Given the description of an element on the screen output the (x, y) to click on. 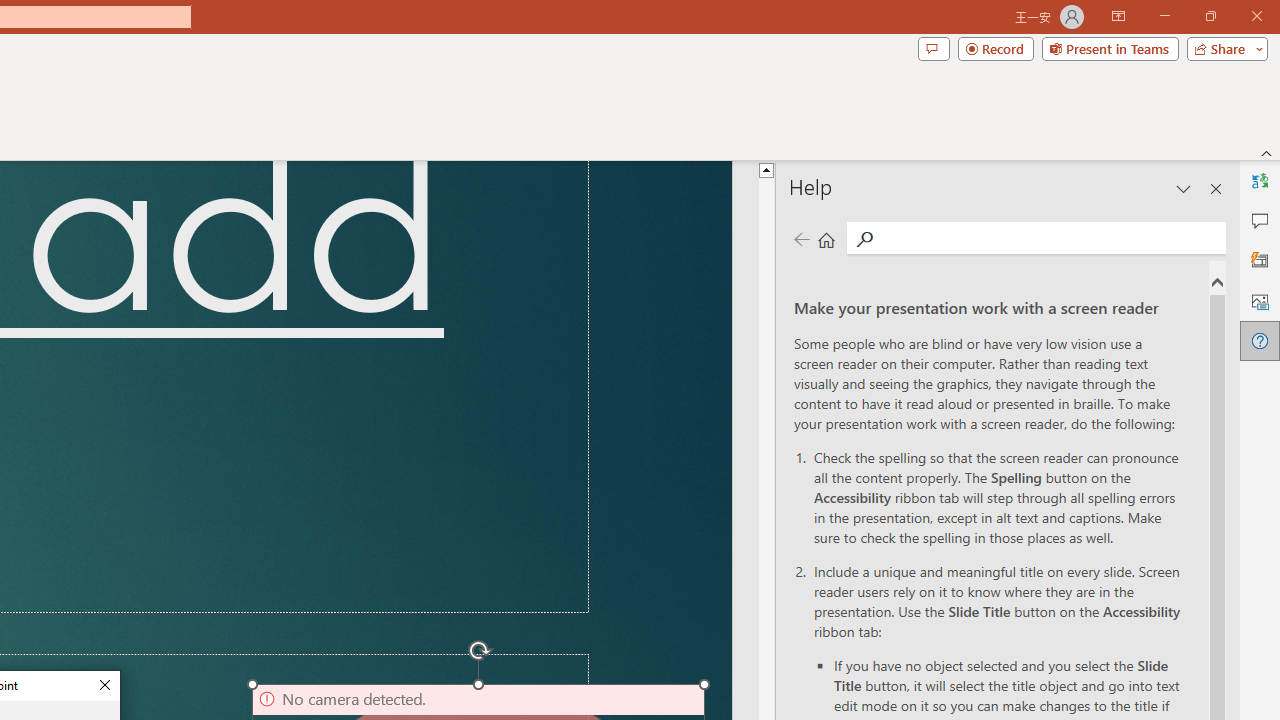
Previous page (801, 238)
